Given the description of an element on the screen output the (x, y) to click on. 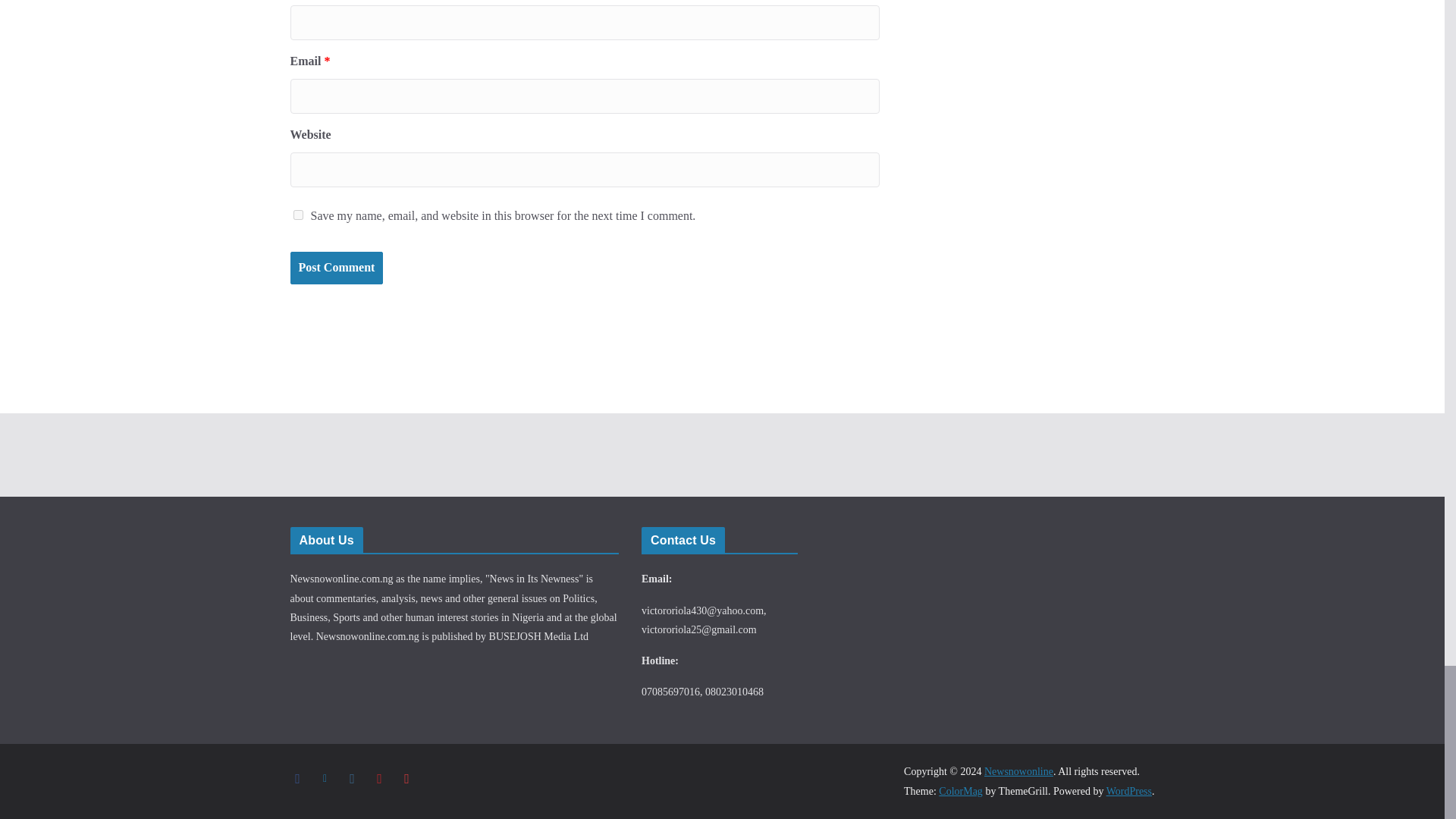
yes (297, 214)
Post Comment (335, 267)
